Given the description of an element on the screen output the (x, y) to click on. 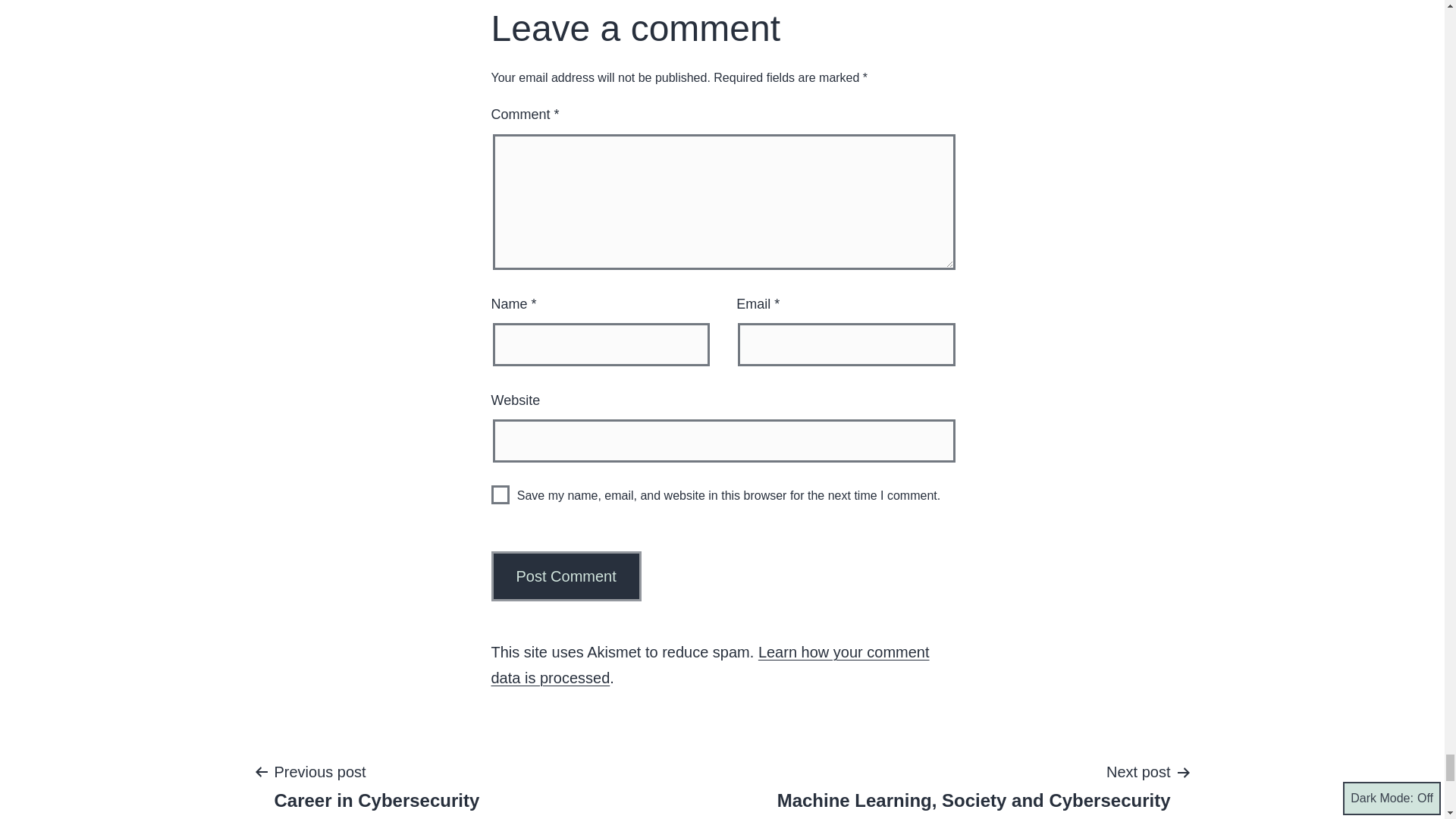
yes (973, 785)
Post Comment (500, 494)
Post Comment (567, 576)
Learn how your comment data is processed (567, 576)
